Given the description of an element on the screen output the (x, y) to click on. 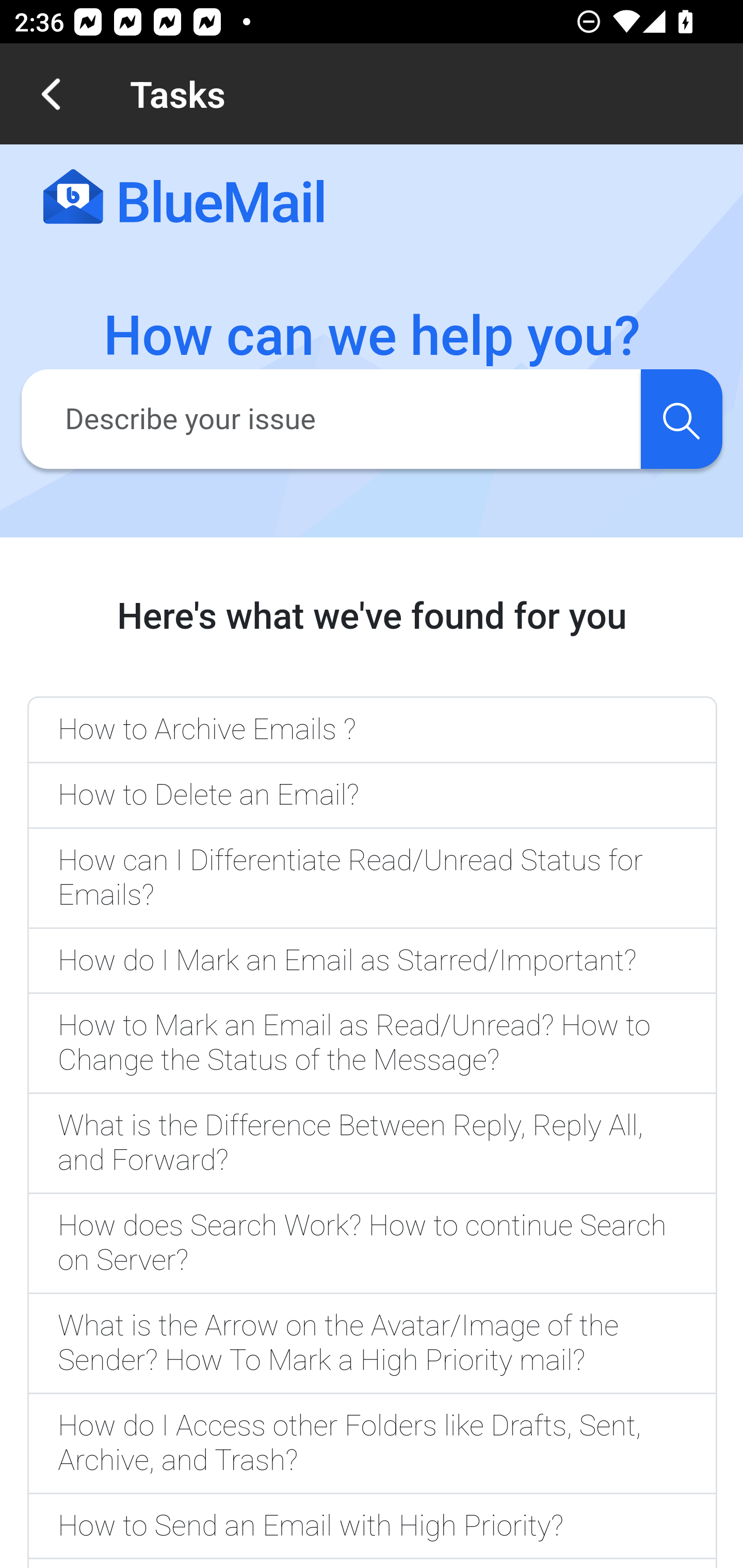
Navigate up (50, 93)
BlueMail Logo (184, 197)
How can we help you? (372, 336)
How can we help you? (372, 336)
search (680, 418)
How to Archive Emails ? (371, 728)
How to Delete an Email? (371, 796)
How do I Mark an Email as Starred/Important? (371, 961)
How to Send an Email with High Priority? (371, 1526)
